Given the description of an element on the screen output the (x, y) to click on. 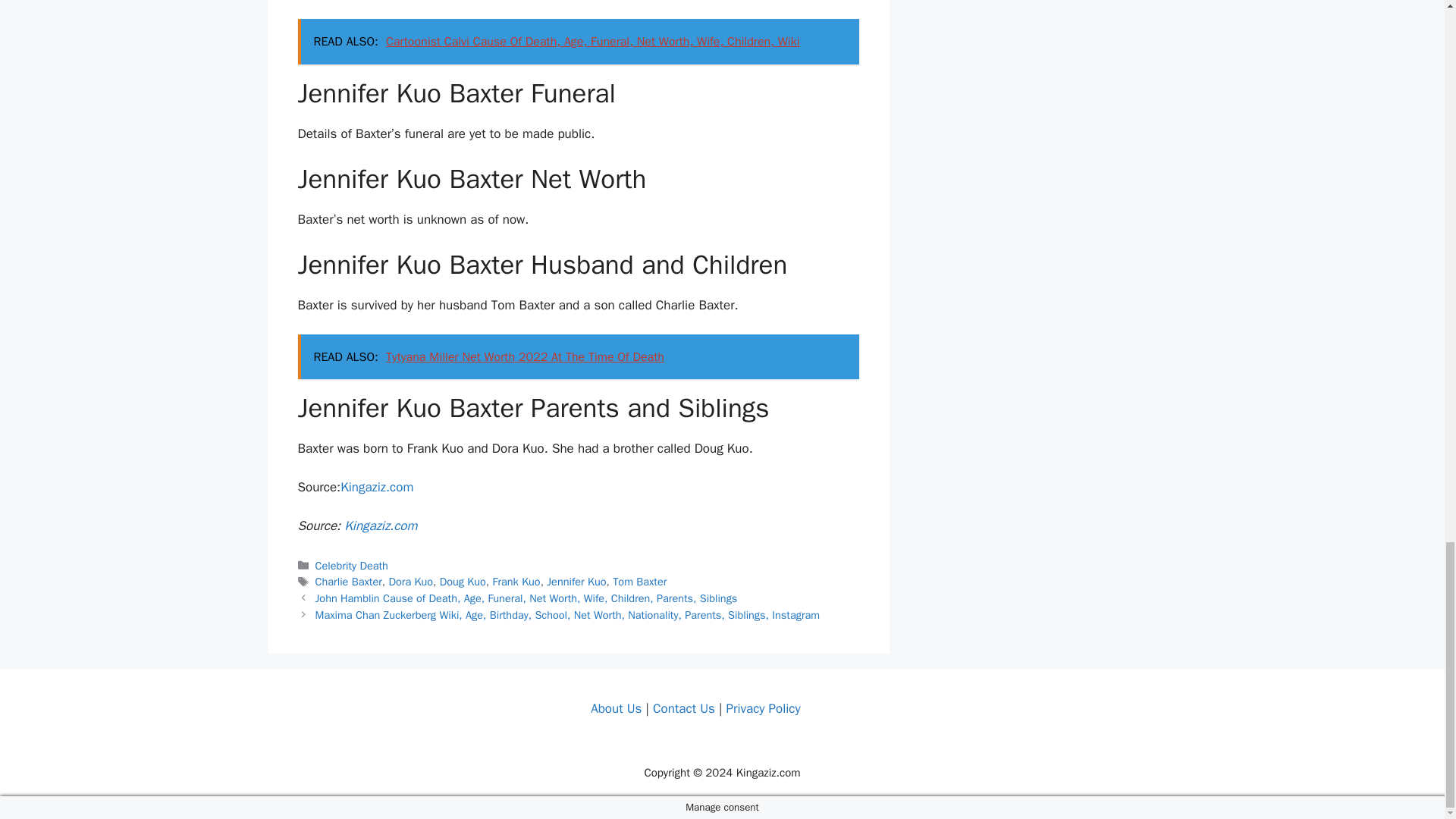
Tom Baxter (639, 581)
Jennifer Kuo (576, 581)
About Us (616, 708)
Doug Kuo (462, 581)
Frank Kuo (516, 581)
Dora Kuo (410, 581)
Charlie Baxter (348, 581)
Kingaziz.com (376, 487)
Privacy Policy (762, 708)
Kingaziz.com (379, 525)
Contact Us (683, 708)
